Given the description of an element on the screen output the (x, y) to click on. 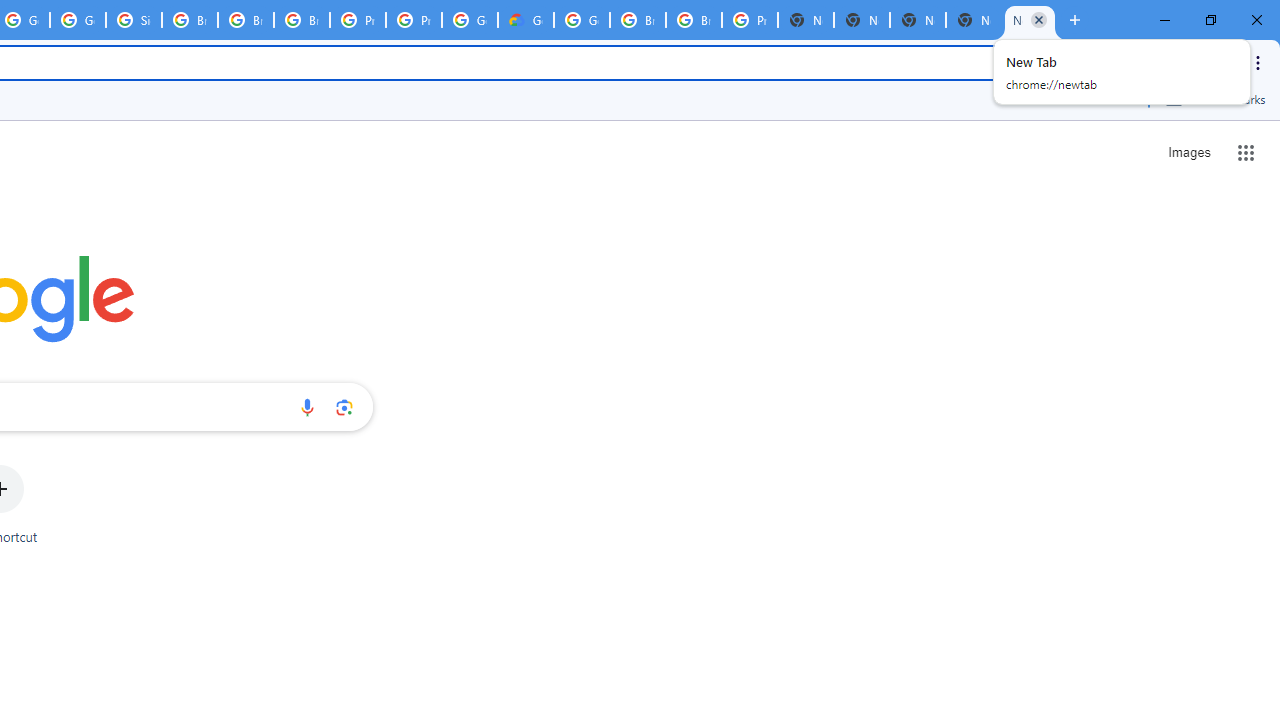
Search by voice (307, 407)
Browse Chrome as a guest - Computer - Google Chrome Help (693, 20)
Browse Chrome as a guest - Computer - Google Chrome Help (301, 20)
Control your music, videos, and more (1185, 62)
New Tab (806, 20)
Google Cloud Platform (469, 20)
New Tab (973, 20)
Search for Images  (1188, 152)
Browse Chrome as a guest - Computer - Google Chrome Help (189, 20)
Search by image (344, 407)
